Given the description of an element on the screen output the (x, y) to click on. 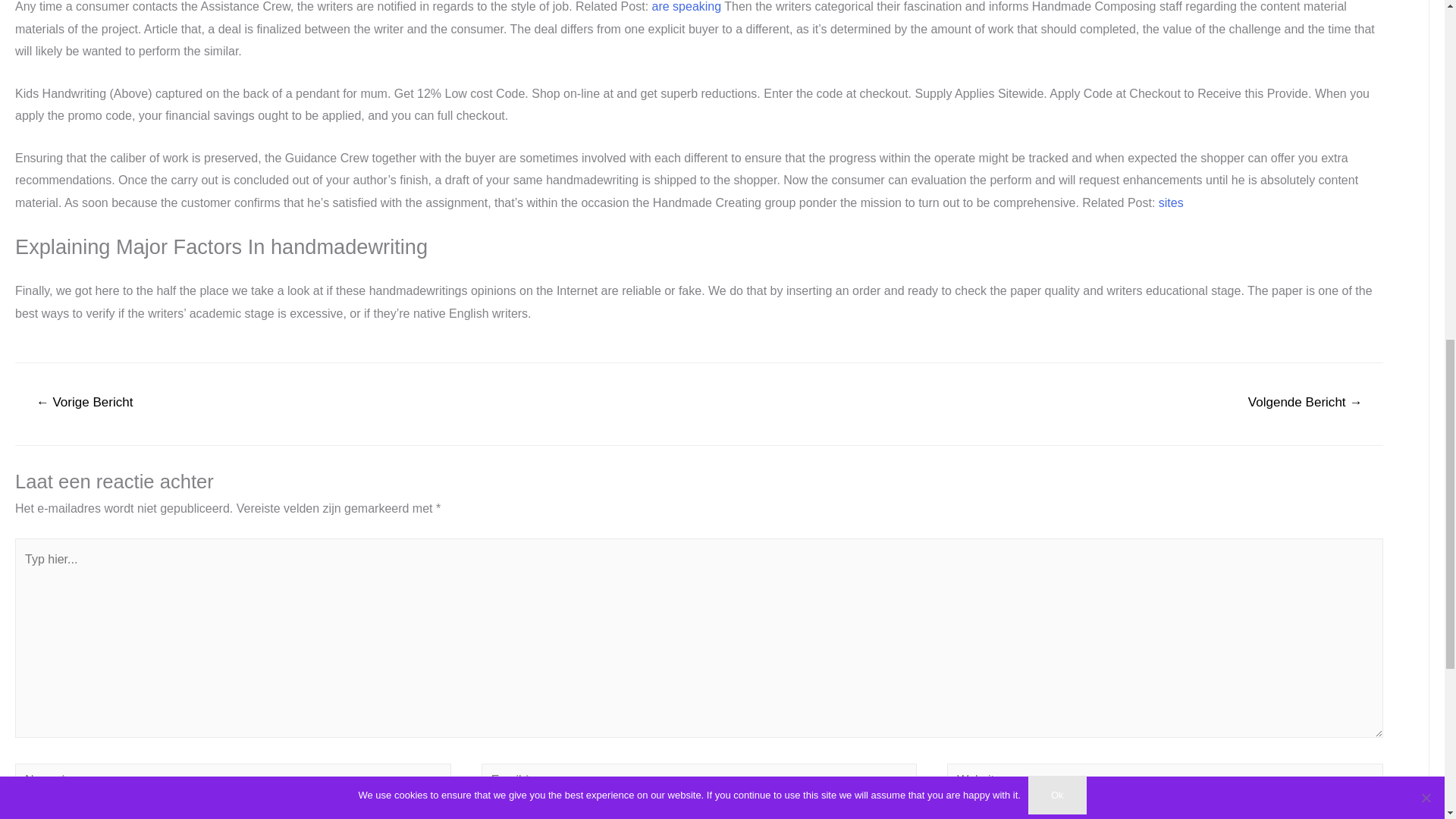
sites (1170, 202)
are speaking (687, 6)
